Given the description of an element on the screen output the (x, y) to click on. 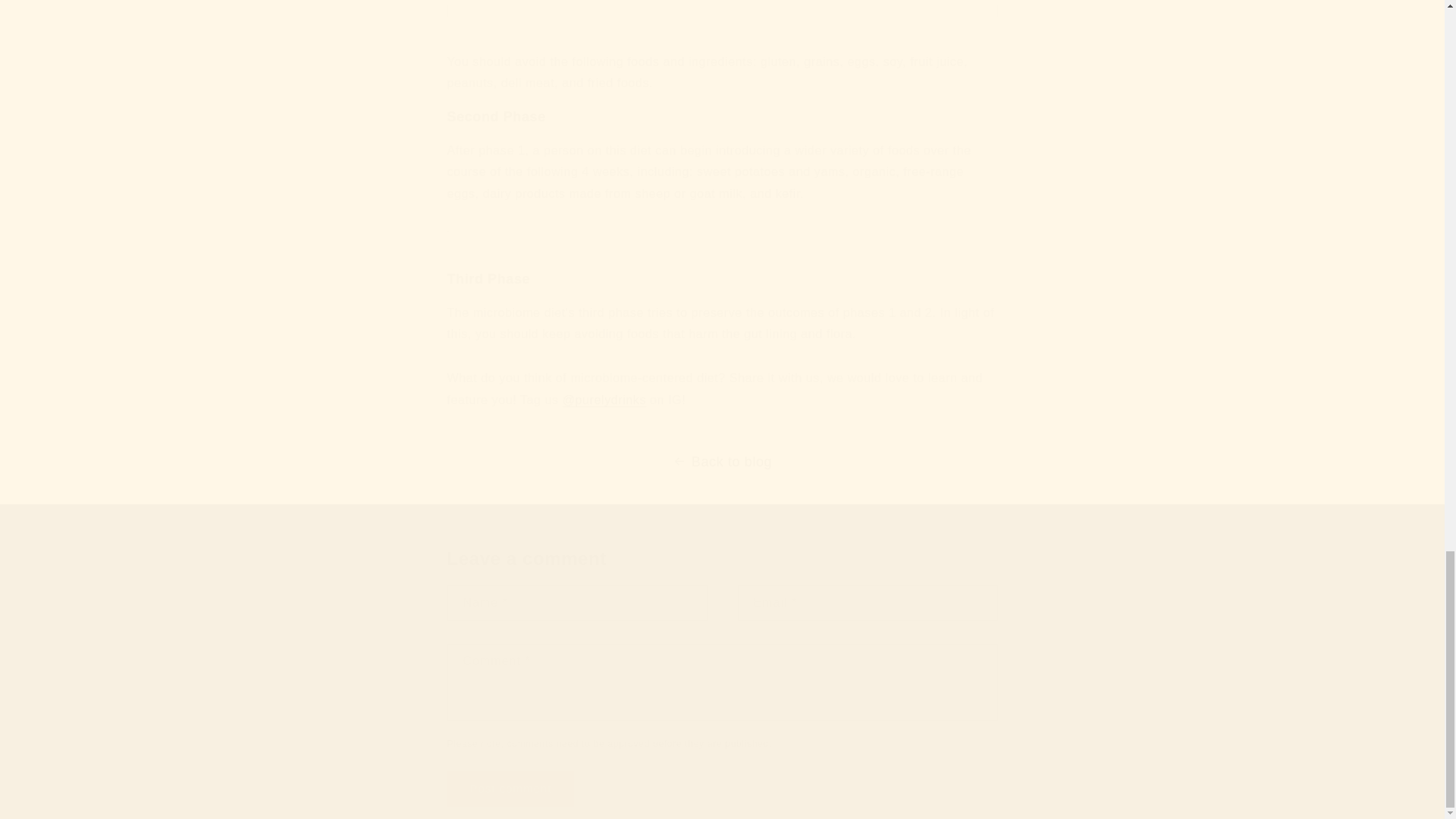
Post comment (510, 787)
